Given the description of an element on the screen output the (x, y) to click on. 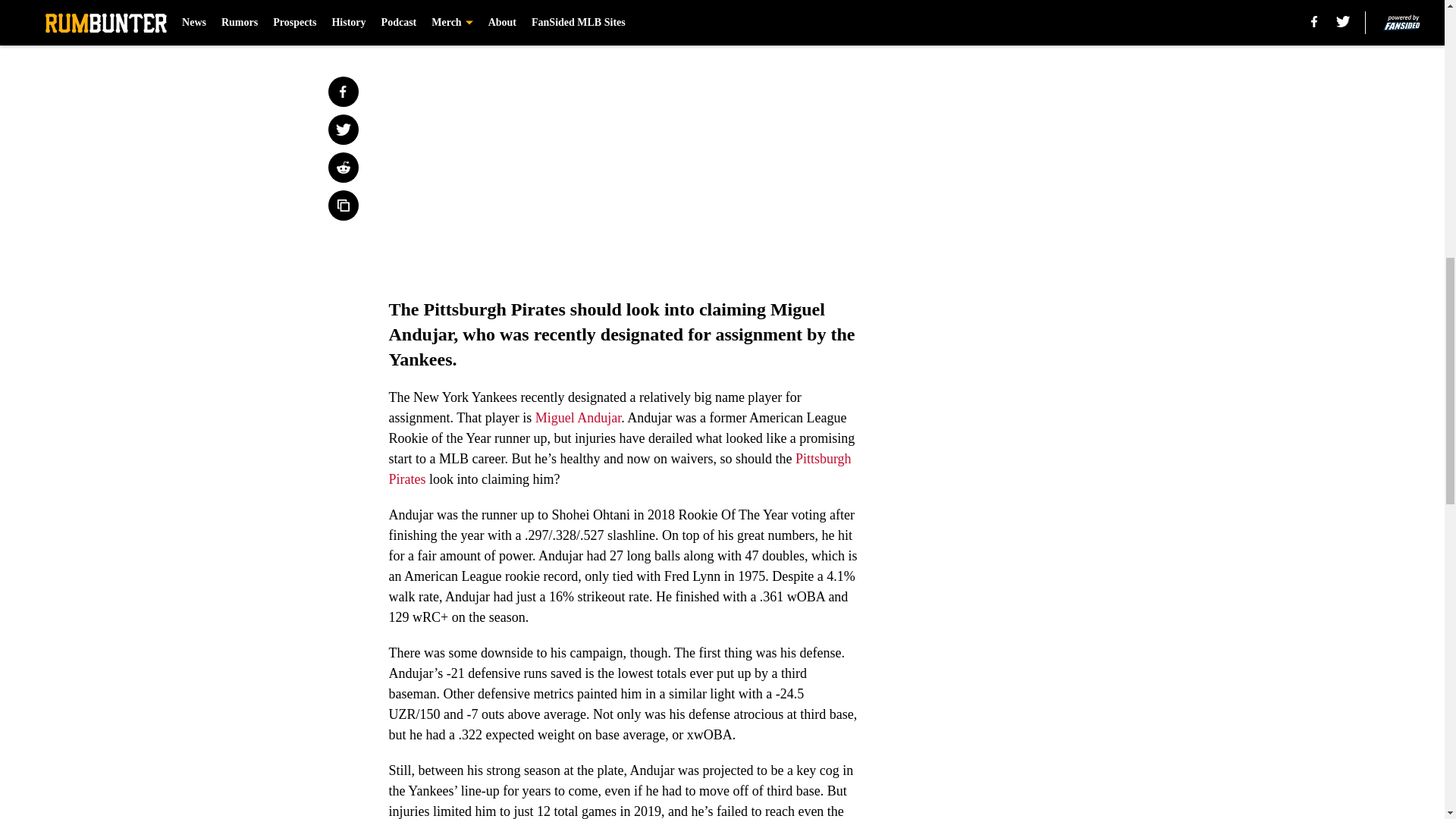
Pittsburgh Pirates (619, 468)
Miguel Andujar (578, 417)
